Given the description of an element on the screen output the (x, y) to click on. 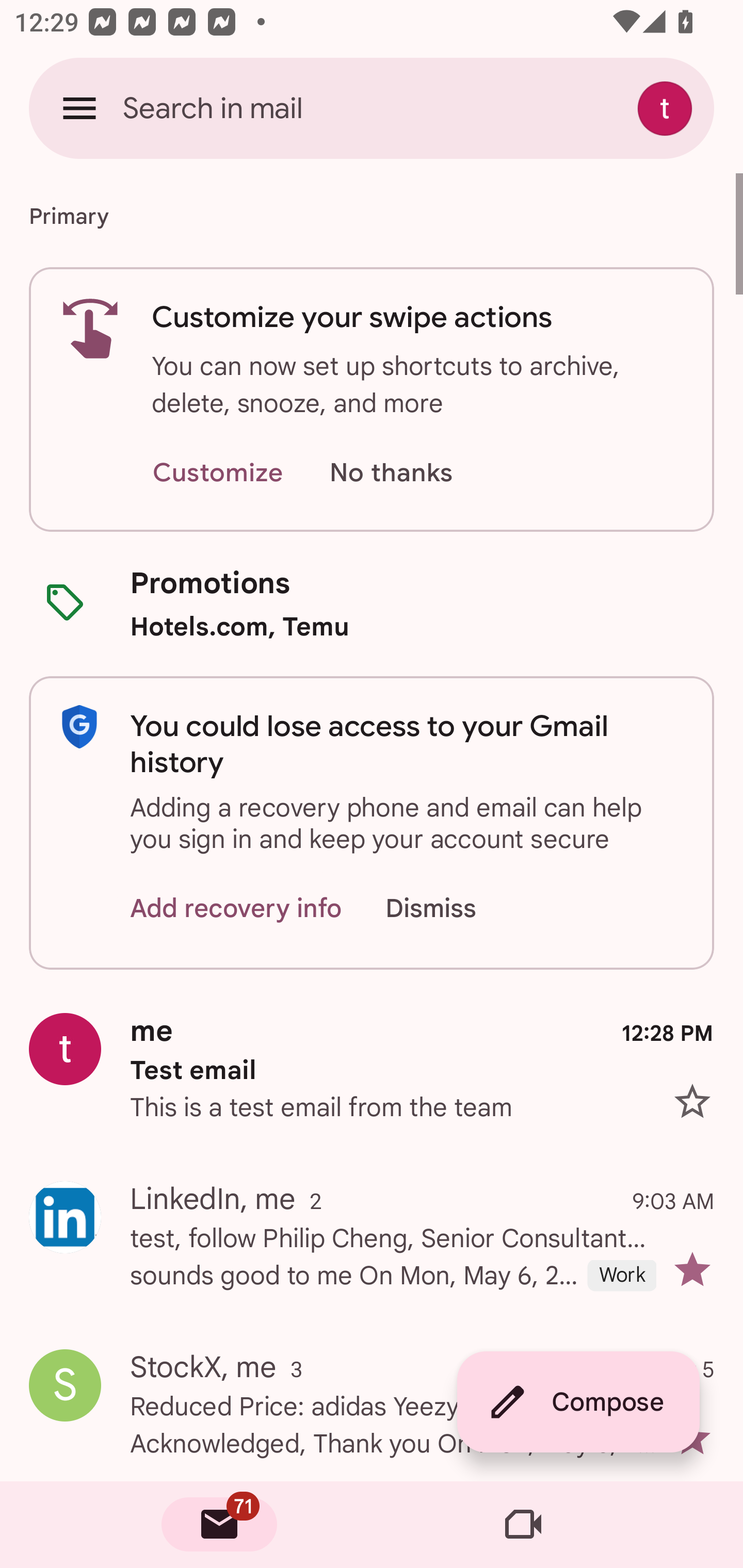
Open navigation drawer (79, 108)
Customize (217, 473)
No thanks (390, 473)
Promotions Hotels.com, Temu (371, 603)
Add recovery info (235, 908)
Dismiss (449, 908)
Compose (577, 1401)
Meet (523, 1524)
